Given the description of an element on the screen output the (x, y) to click on. 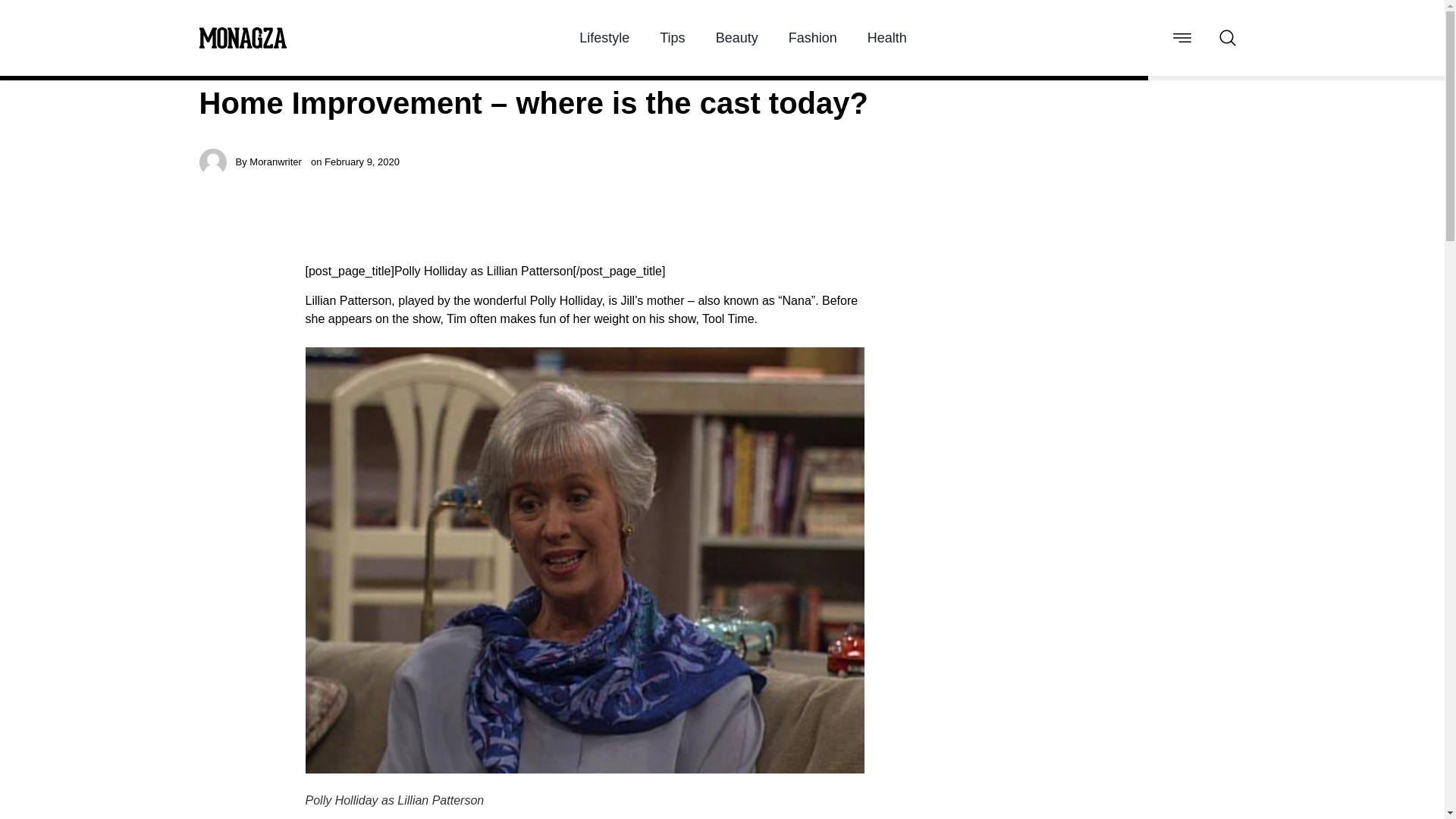
Lifestyle (603, 37)
Health (887, 37)
Advertisement (1026, 339)
Fashion (813, 37)
Beauty (737, 37)
